Given the description of an element on the screen output the (x, y) to click on. 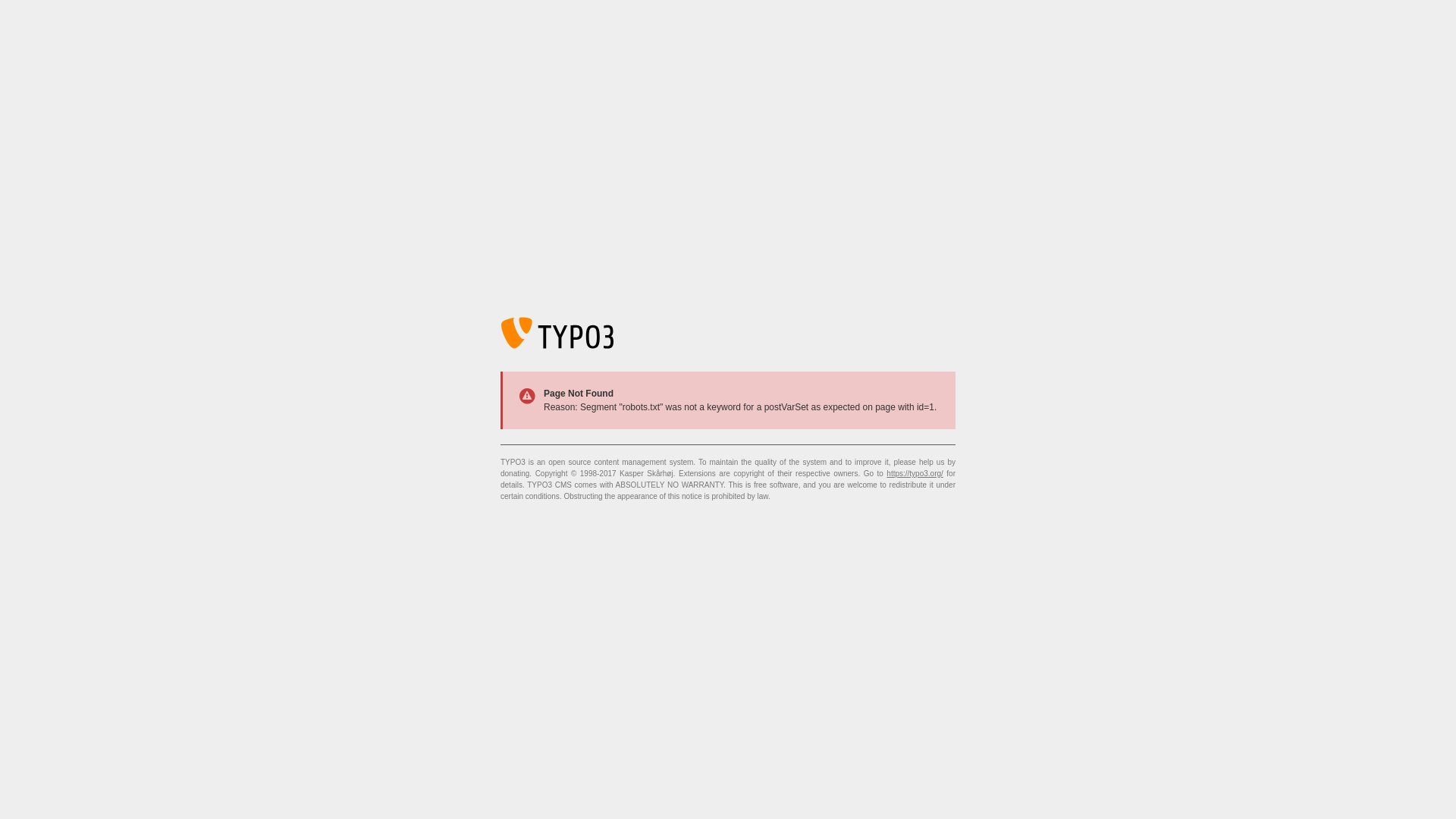
https://typo3.org/ Element type: text (914, 473)
